Given the description of an element on the screen output the (x, y) to click on. 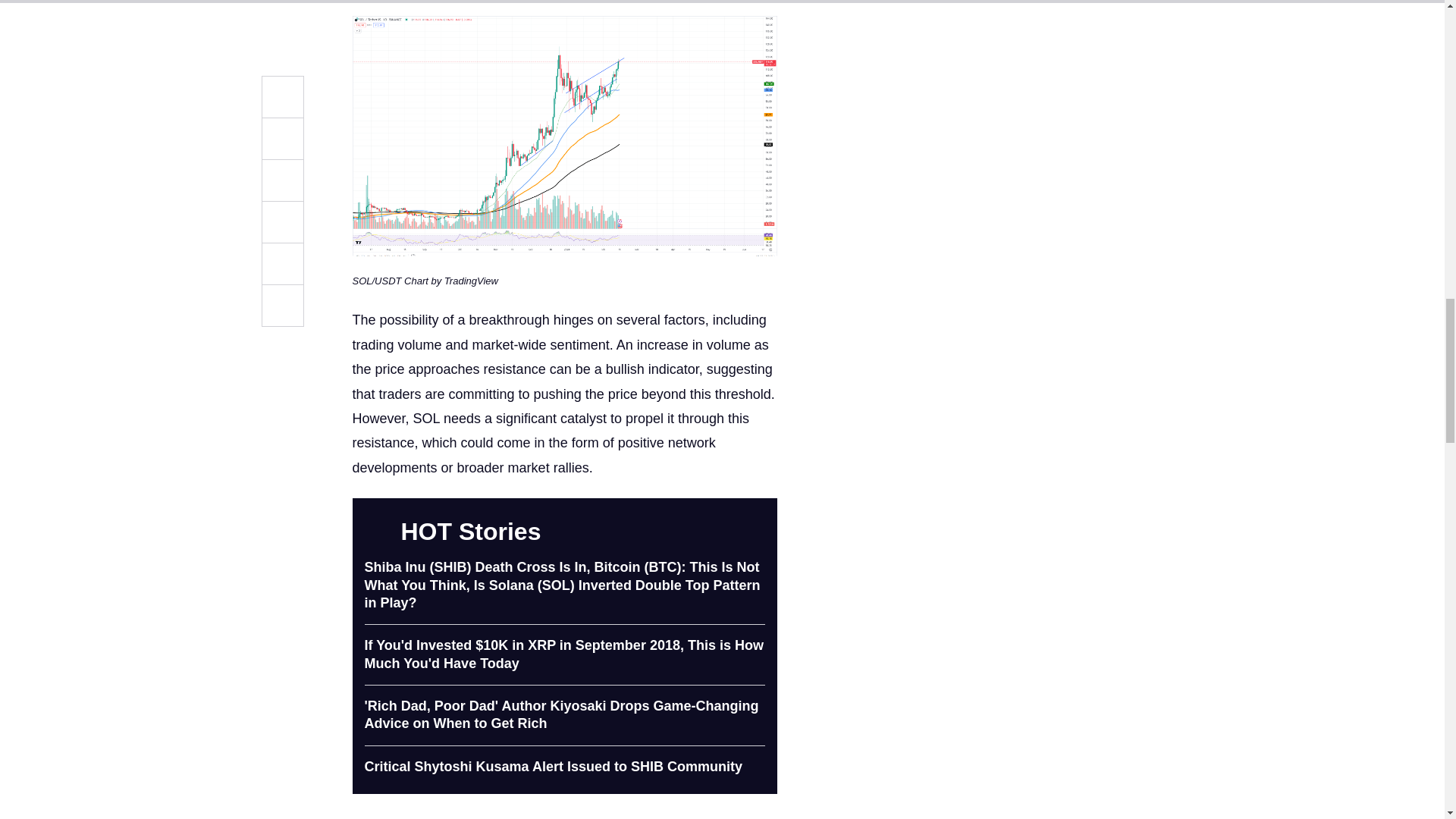
Go to Hot stories (754, 531)
